Given the description of an element on the screen output the (x, y) to click on. 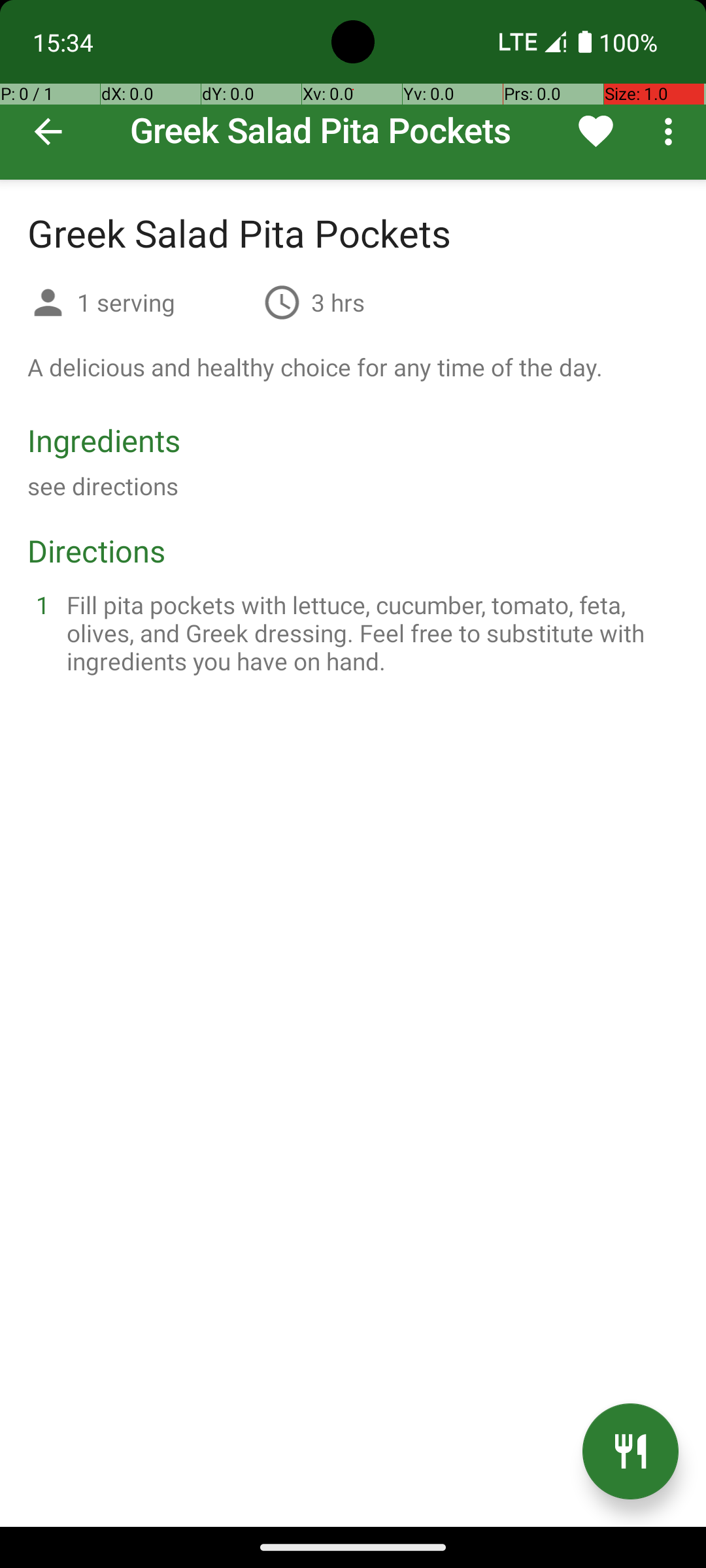
Fill pita pockets with lettuce, cucumber, tomato, feta, olives, and Greek dressing. Feel free to substitute with ingredients you have on hand. Element type: android.widget.TextView (368, 632)
